Given the description of an element on the screen output the (x, y) to click on. 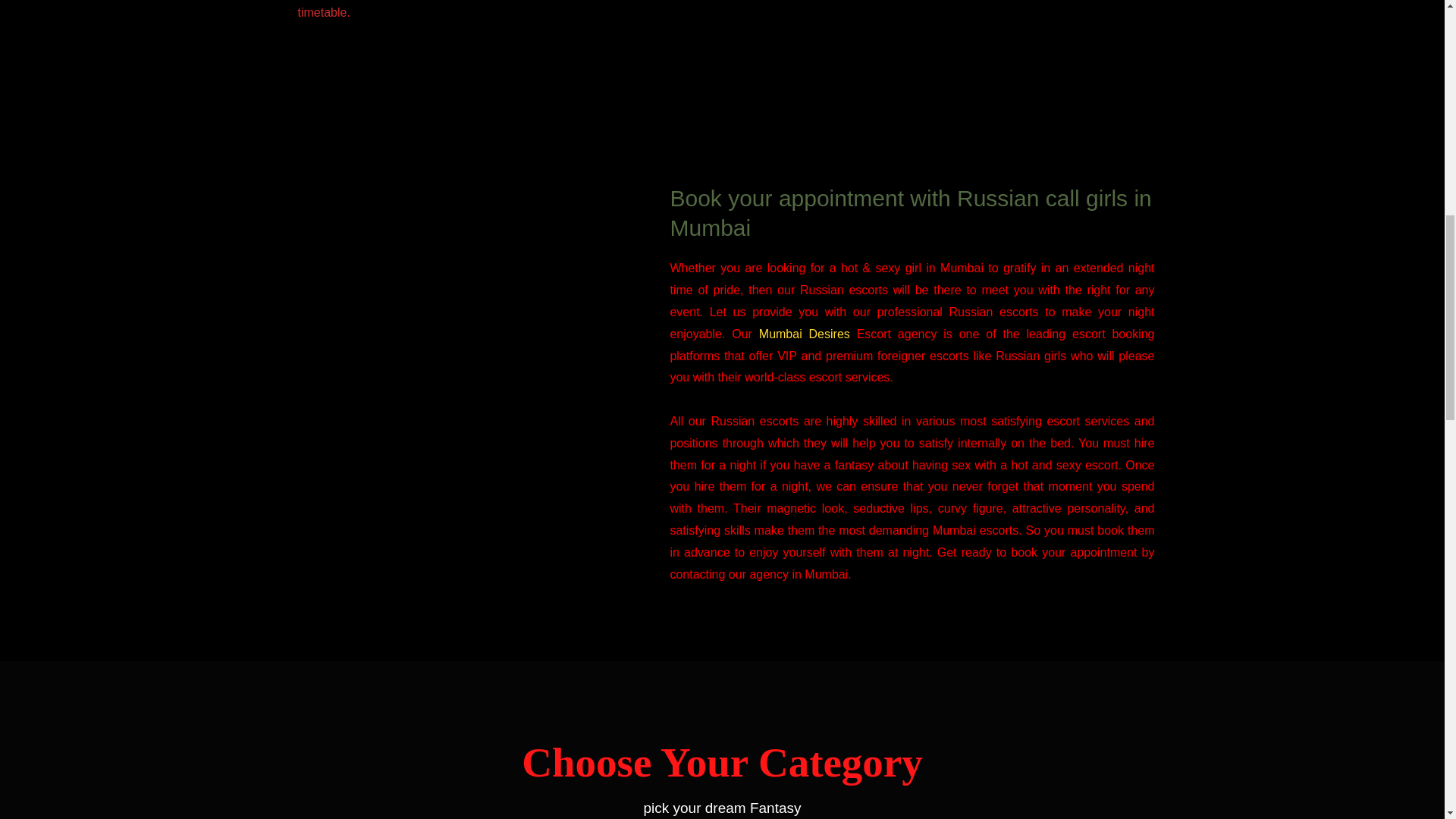
Mumbai Desires (804, 333)
